Given the description of an element on the screen output the (x, y) to click on. 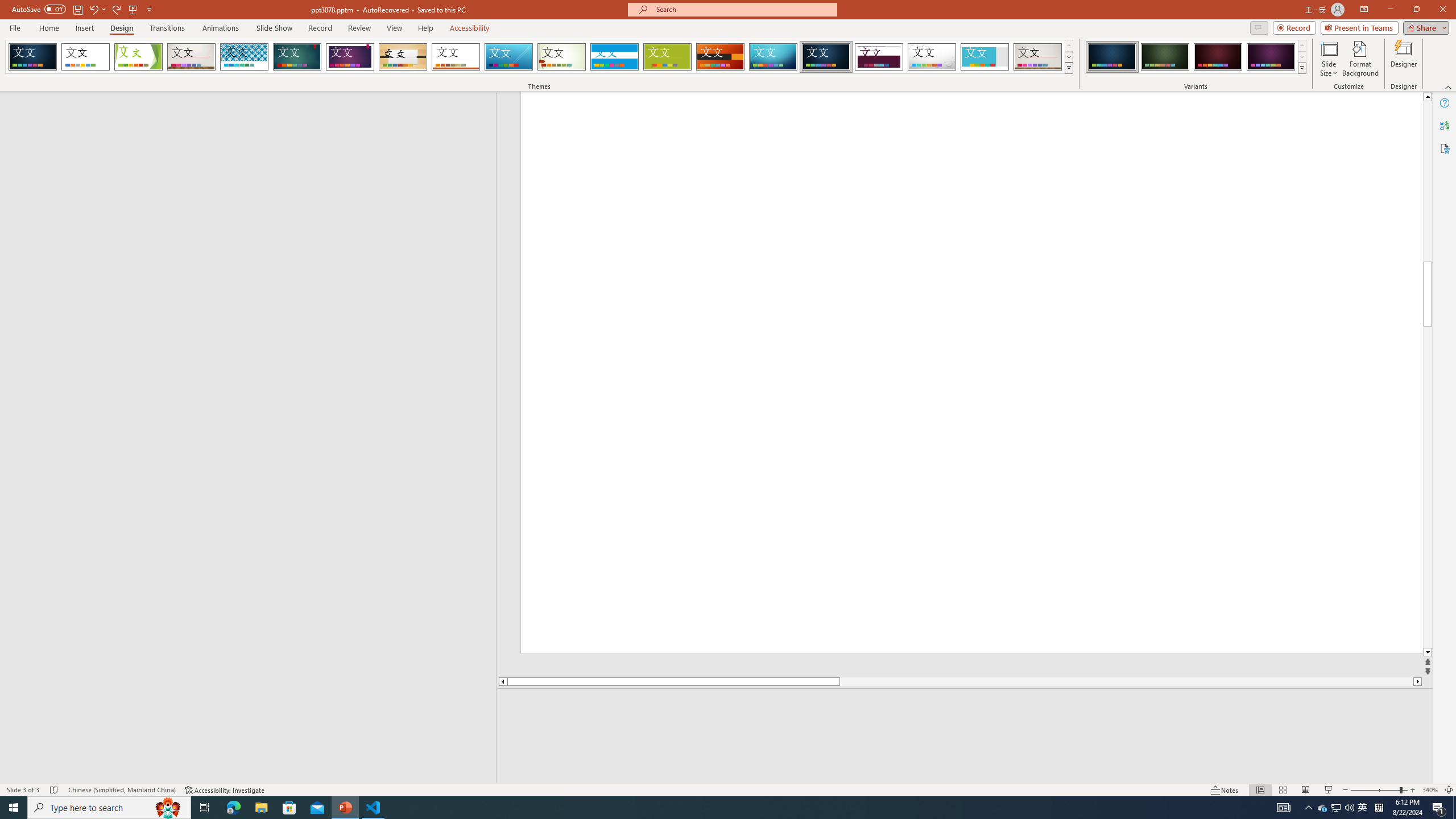
Slide Notes (965, 705)
Subtitle TextBox (1133, 210)
Slide Size (1328, 58)
Themes (1068, 67)
Outline (252, 114)
Droplet (931, 56)
